Given the description of an element on the screen output the (x, y) to click on. 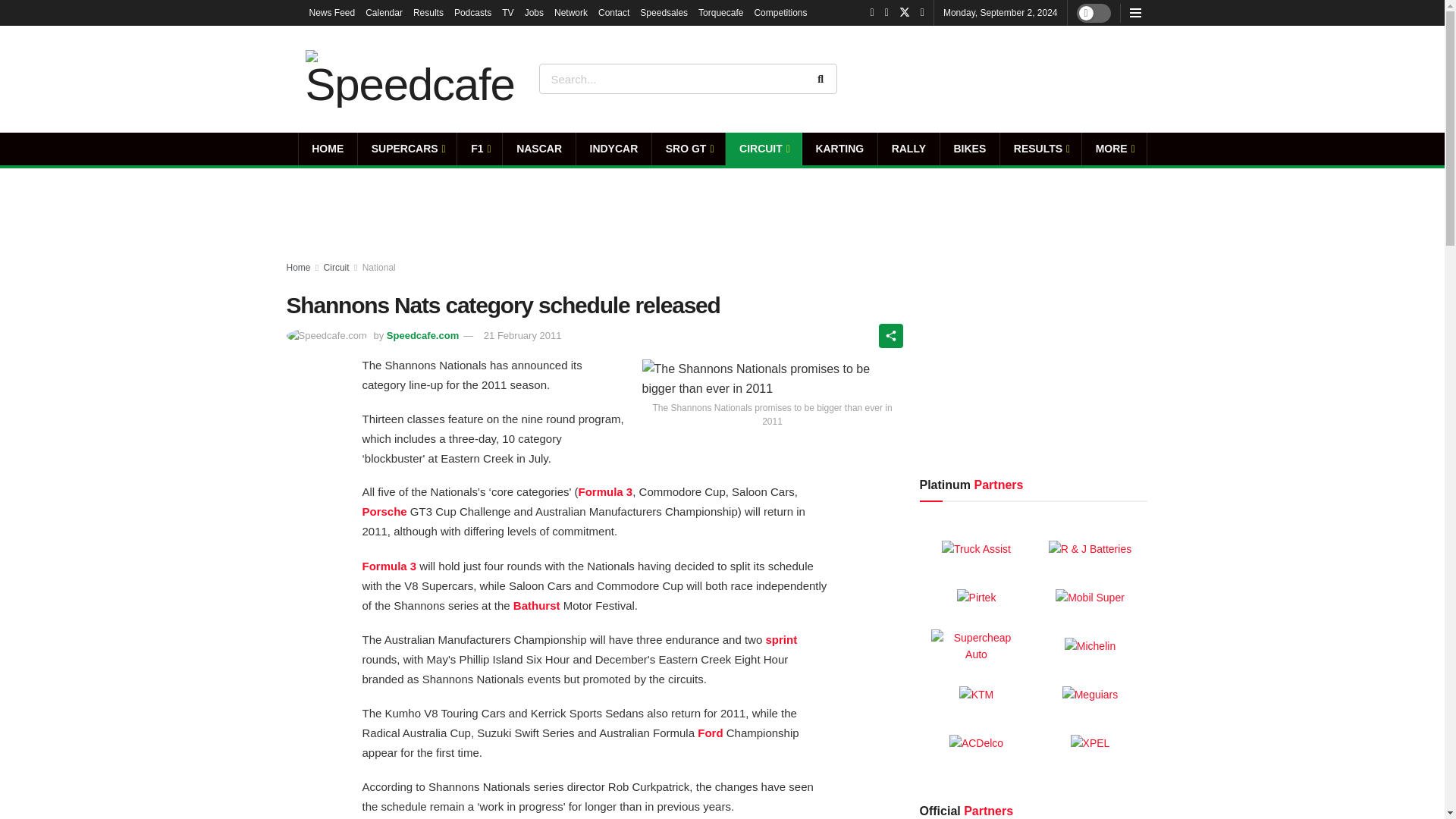
SUPERCARS (407, 148)
Speedsales (663, 12)
Michelin (1089, 646)
Calendar (384, 12)
News Feed (331, 12)
F1 (479, 148)
INDYCAR (613, 148)
SRO GT (688, 148)
Posts tagged with Porsche (384, 511)
Supercheap Auto (976, 646)
